Given the description of an element on the screen output the (x, y) to click on. 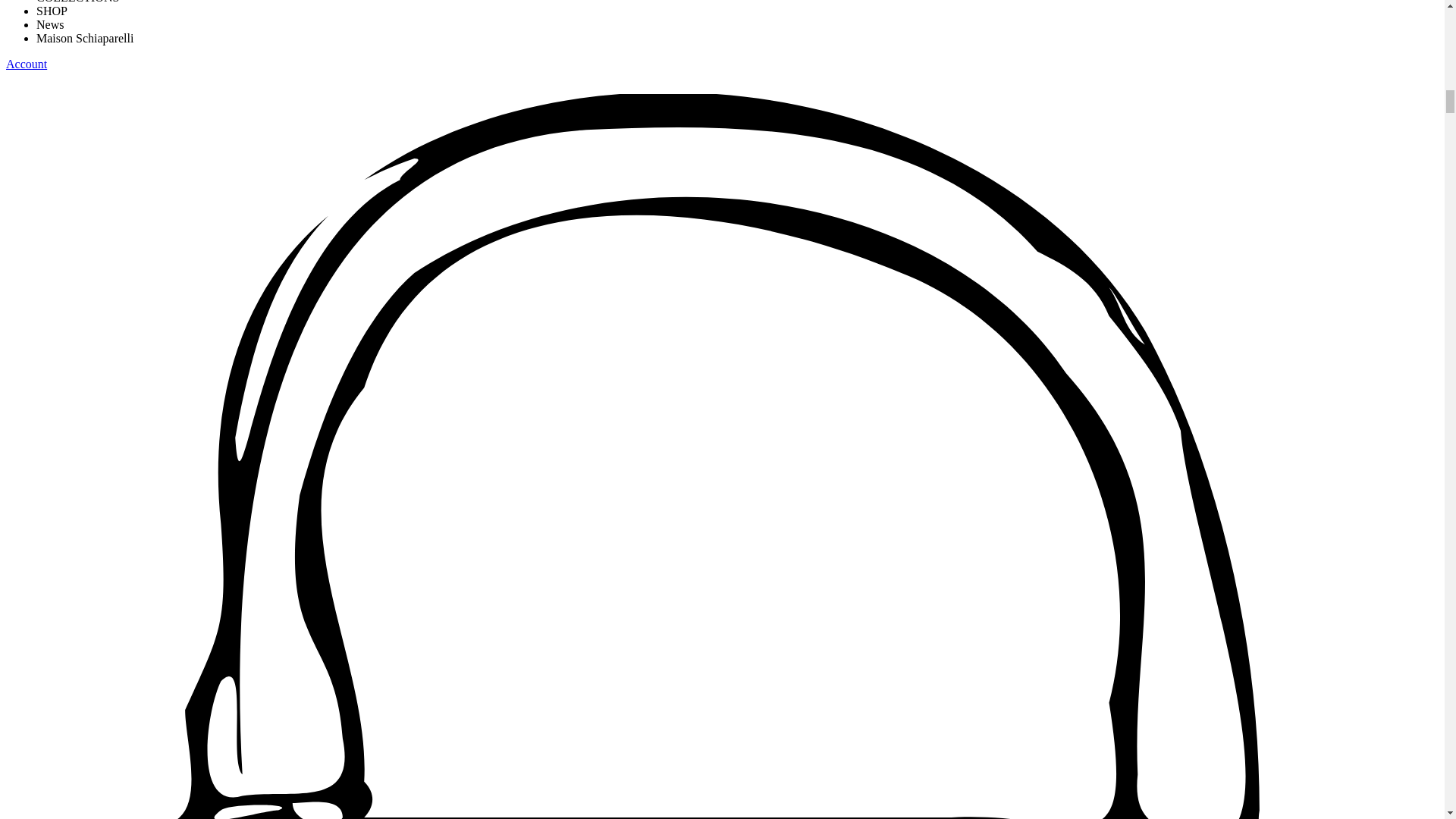
COLLECTIONS (77, 2)
Maison Schiaparelli (84, 38)
SHOP (51, 10)
News (50, 24)
